Given the description of an element on the screen output the (x, y) to click on. 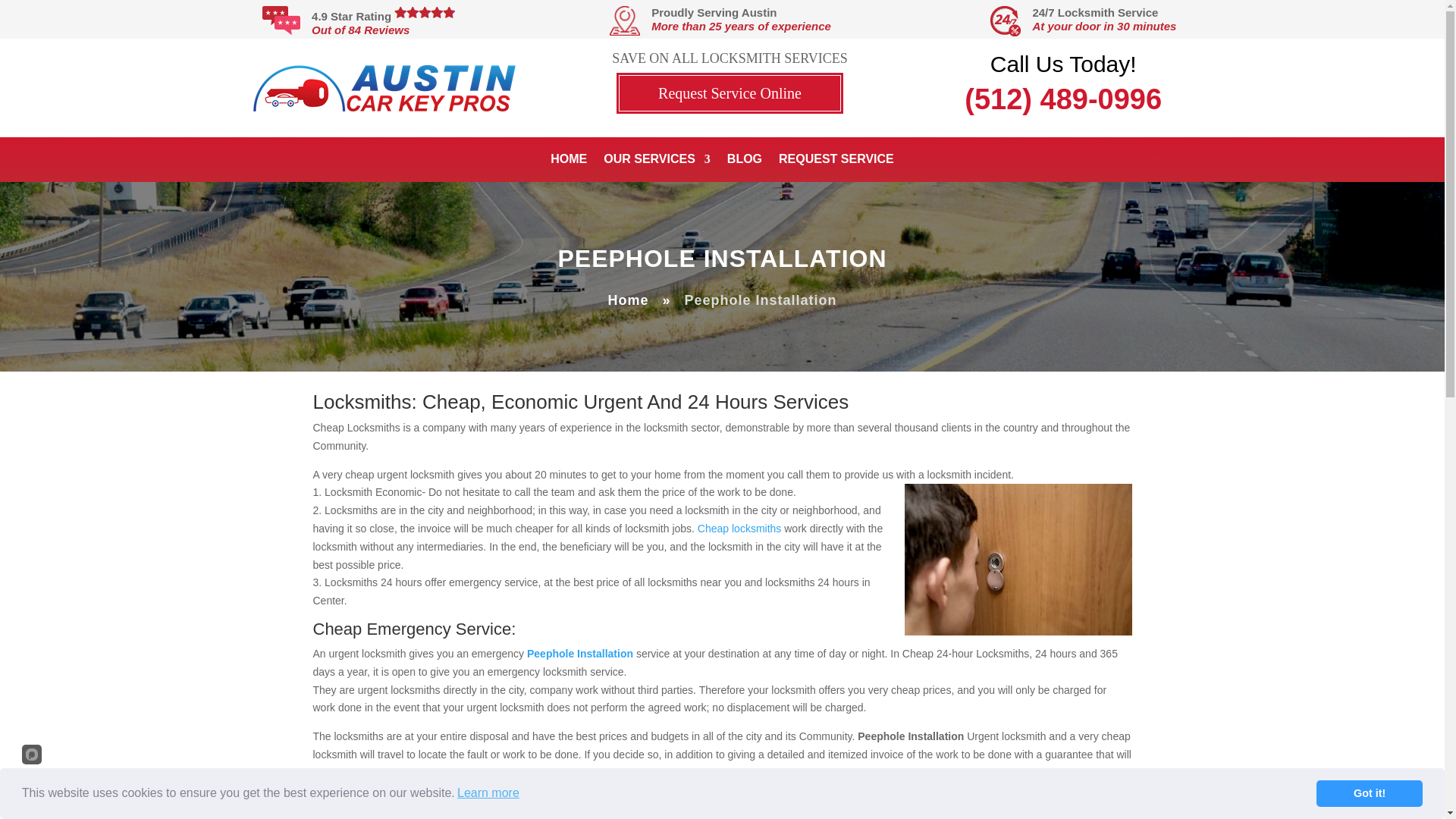
HOME (568, 161)
OUR SERVICES (657, 161)
Request Service Online (729, 92)
Car-Key-Pros-100 (383, 87)
